Given the description of an element on the screen output the (x, y) to click on. 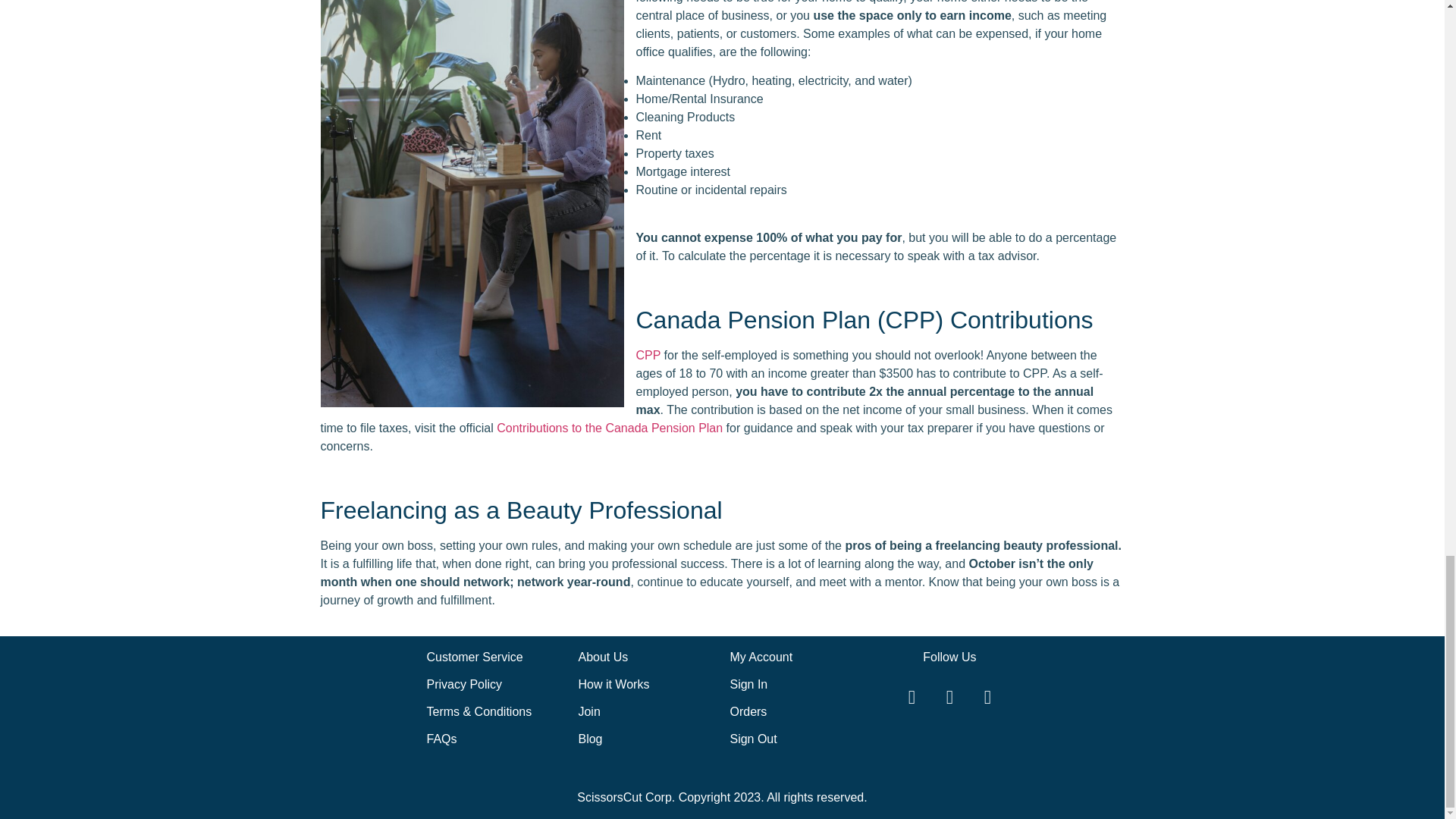
CPP (647, 354)
FAQs (441, 738)
Blog (590, 738)
Contributions to the Canada Pension Plan (609, 427)
Privacy Policy (464, 684)
Sign In (748, 684)
How it Works (613, 684)
Sign Out (752, 738)
Join (588, 711)
Orders (748, 711)
